Given the description of an element on the screen output the (x, y) to click on. 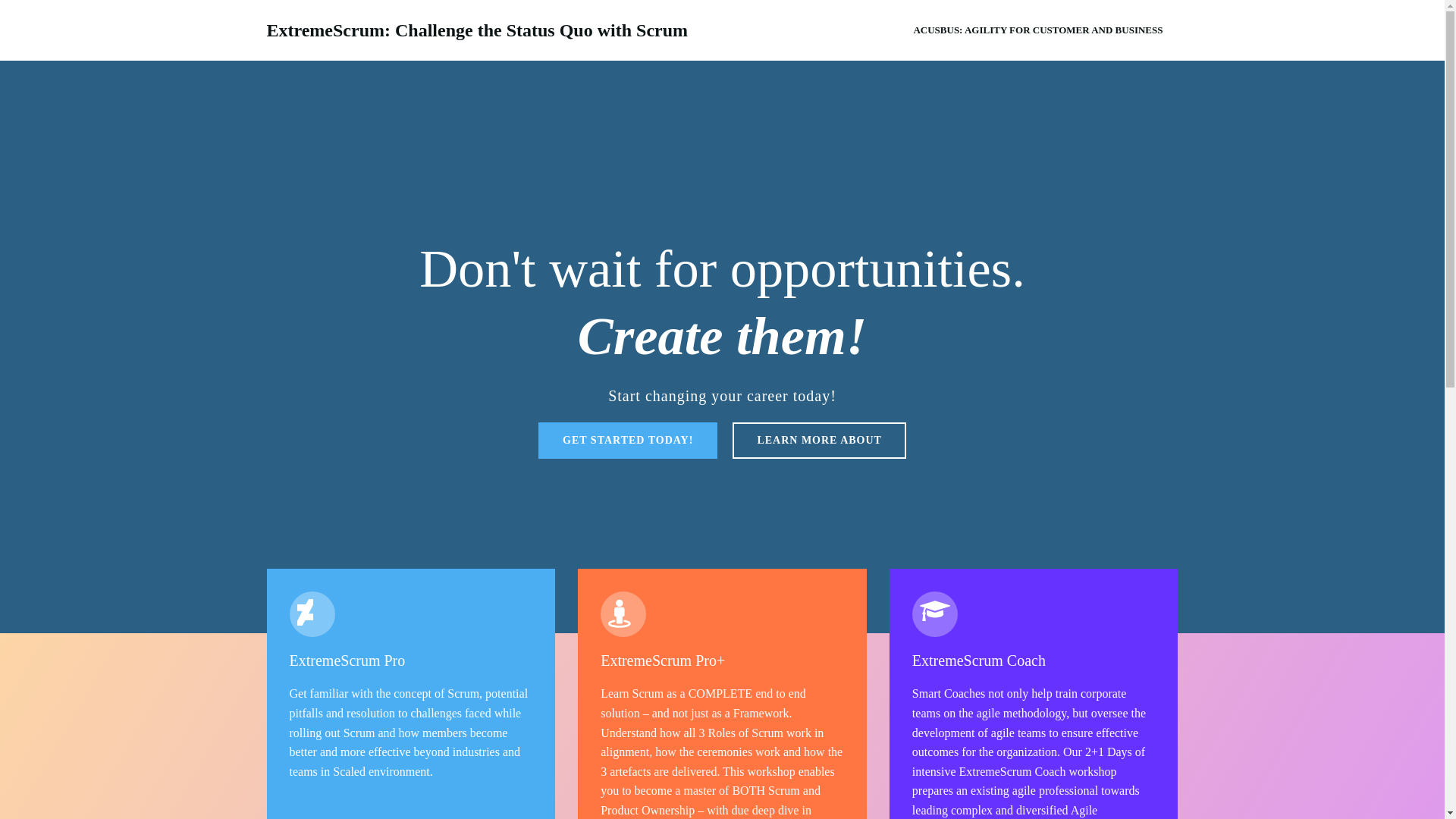
GET STARTED TODAY! (627, 440)
Colibri (968, 773)
ACUSBUS: AGILITY FOR CUSTOMER AND BUSINESS (1036, 29)
LEARN MORE ABOUT (818, 440)
ExtremeScrum: Challenge the Status Quo with Scrum (477, 30)
